Given the description of an element on the screen output the (x, y) to click on. 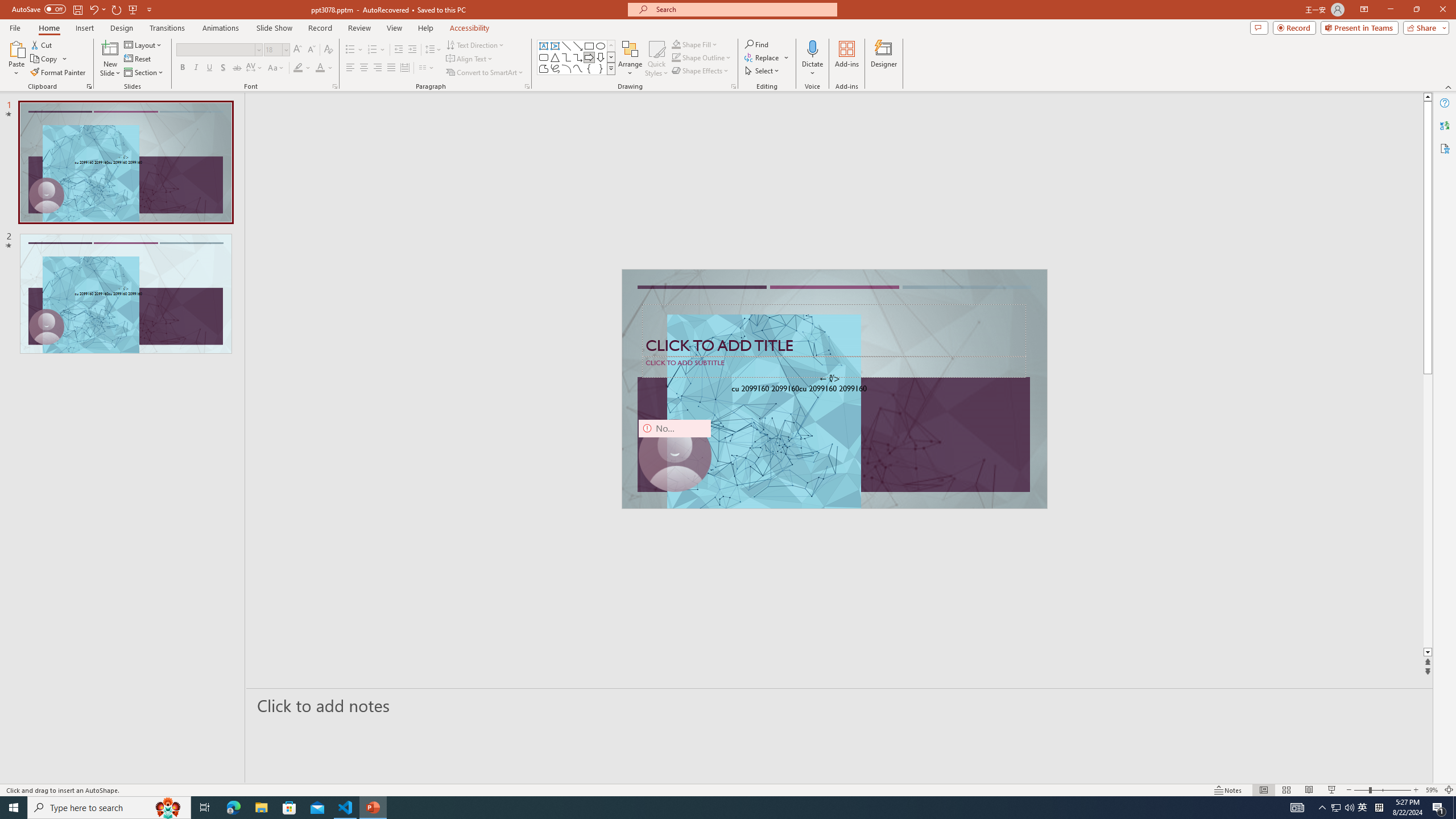
TextBox 7 (829, 378)
